Given the description of an element on the screen output the (x, y) to click on. 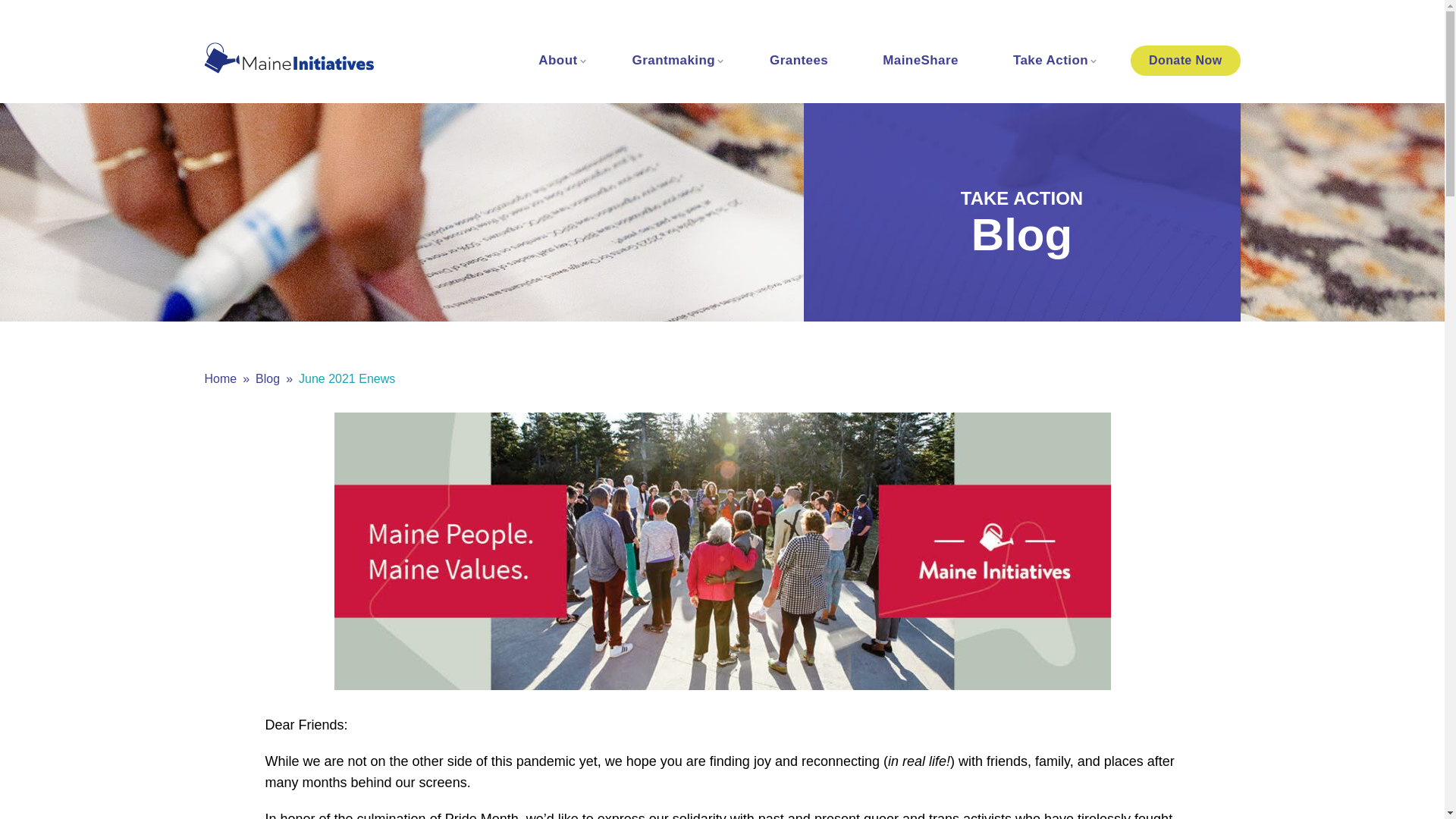
MaineShare (920, 60)
About (557, 60)
Donate Now (1185, 60)
Grantees (798, 60)
Take Action (1050, 60)
Grantmaking (674, 60)
